Given the description of an element on the screen output the (x, y) to click on. 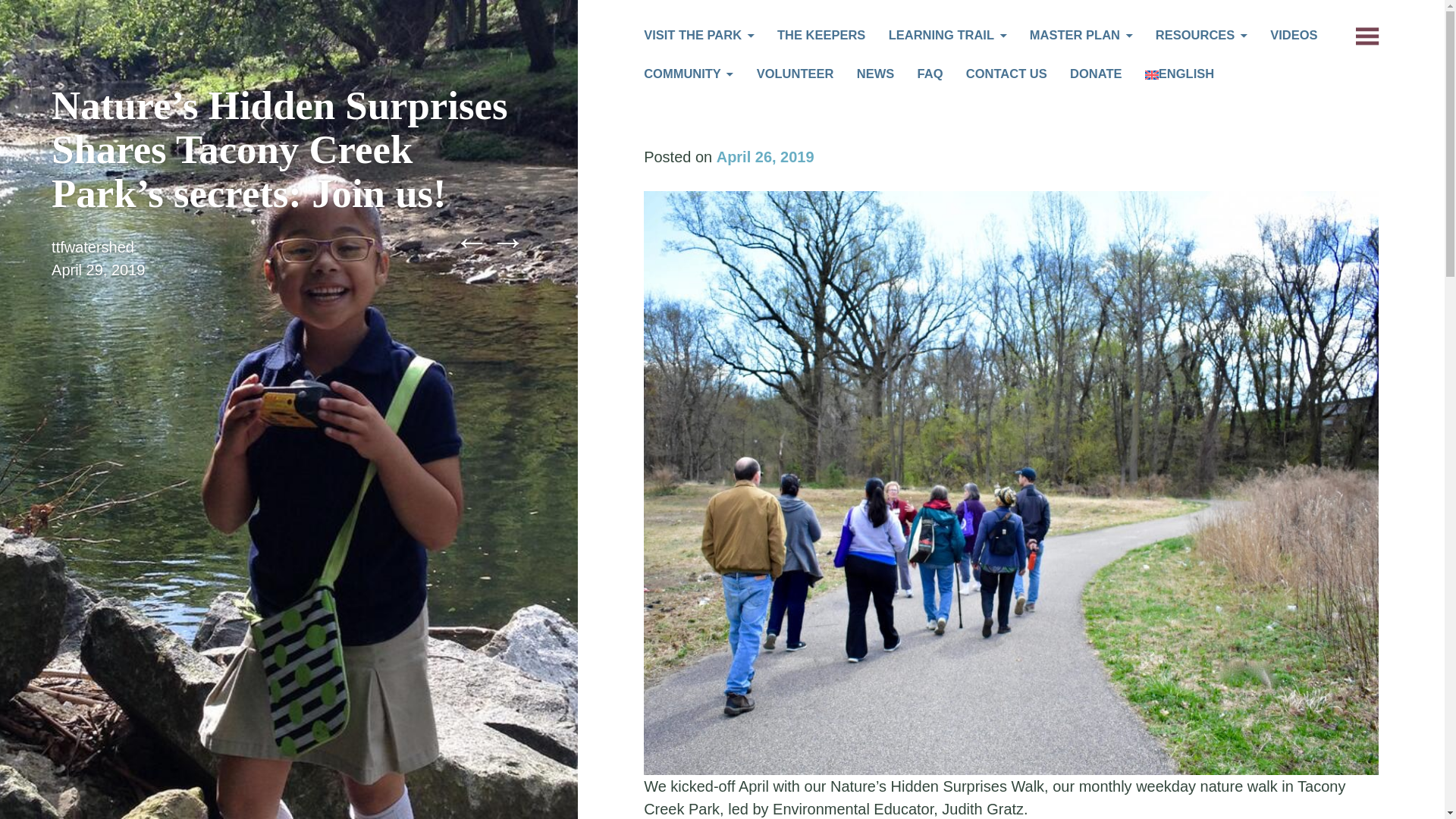
MASTER PLAN (1080, 36)
FAQ (930, 75)
RESOURCES (1201, 36)
NEWS (876, 75)
VIDEOS (1293, 36)
ENGLISH (1179, 75)
DONATE (1095, 75)
April 29, 2019 (97, 269)
April 26, 2019 (764, 156)
View all posts by ttfwatershed (91, 247)
